Given the description of an element on the screen output the (x, y) to click on. 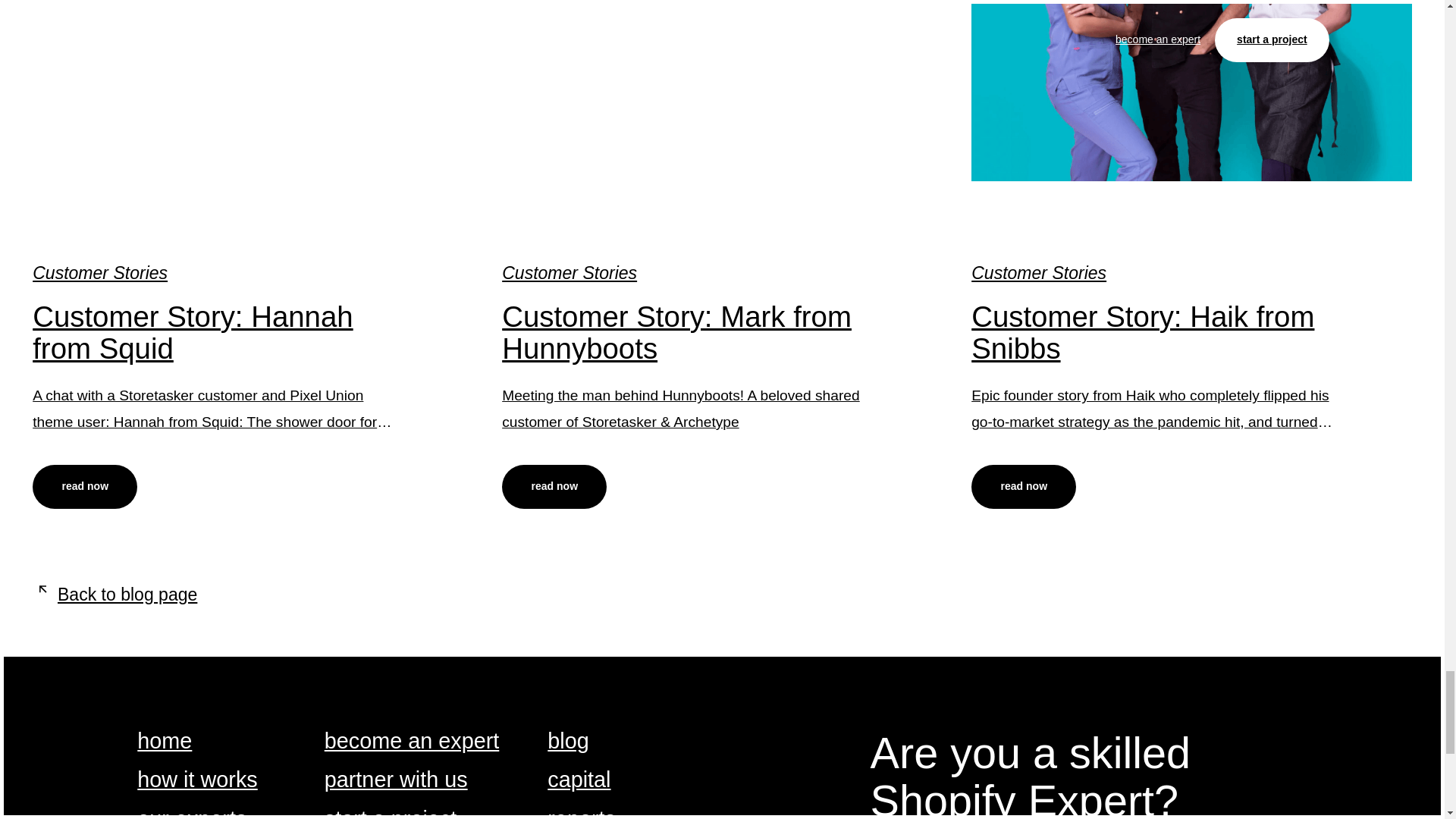
capital (578, 780)
reports (581, 813)
partner with us (395, 780)
our experts (191, 813)
Back to blog page (114, 594)
blog (567, 741)
start a project (390, 813)
become an expert (411, 741)
home (164, 741)
how it works (196, 780)
